Given the description of an element on the screen output the (x, y) to click on. 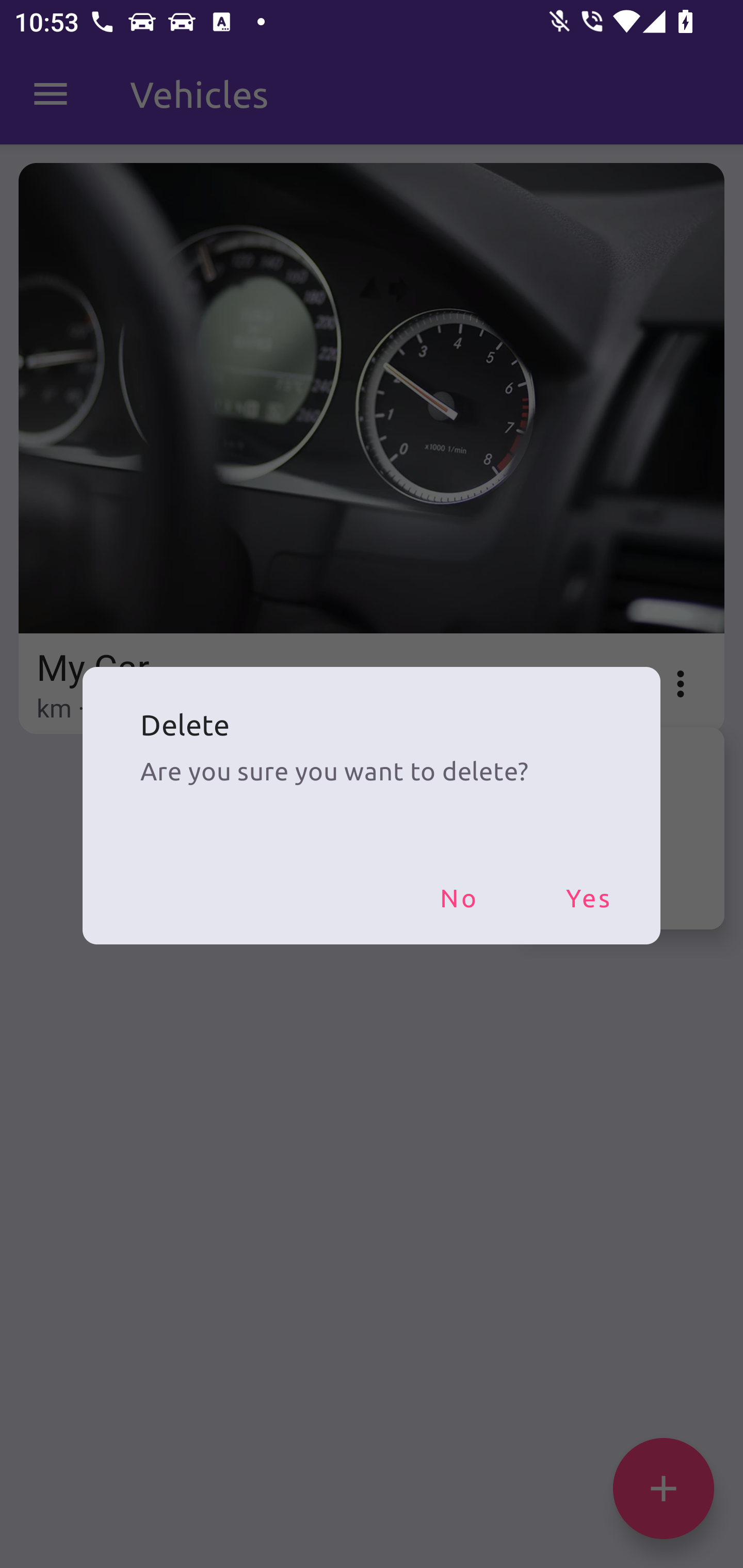
No (457, 897)
Yes (587, 897)
